Given the description of an element on the screen output the (x, y) to click on. 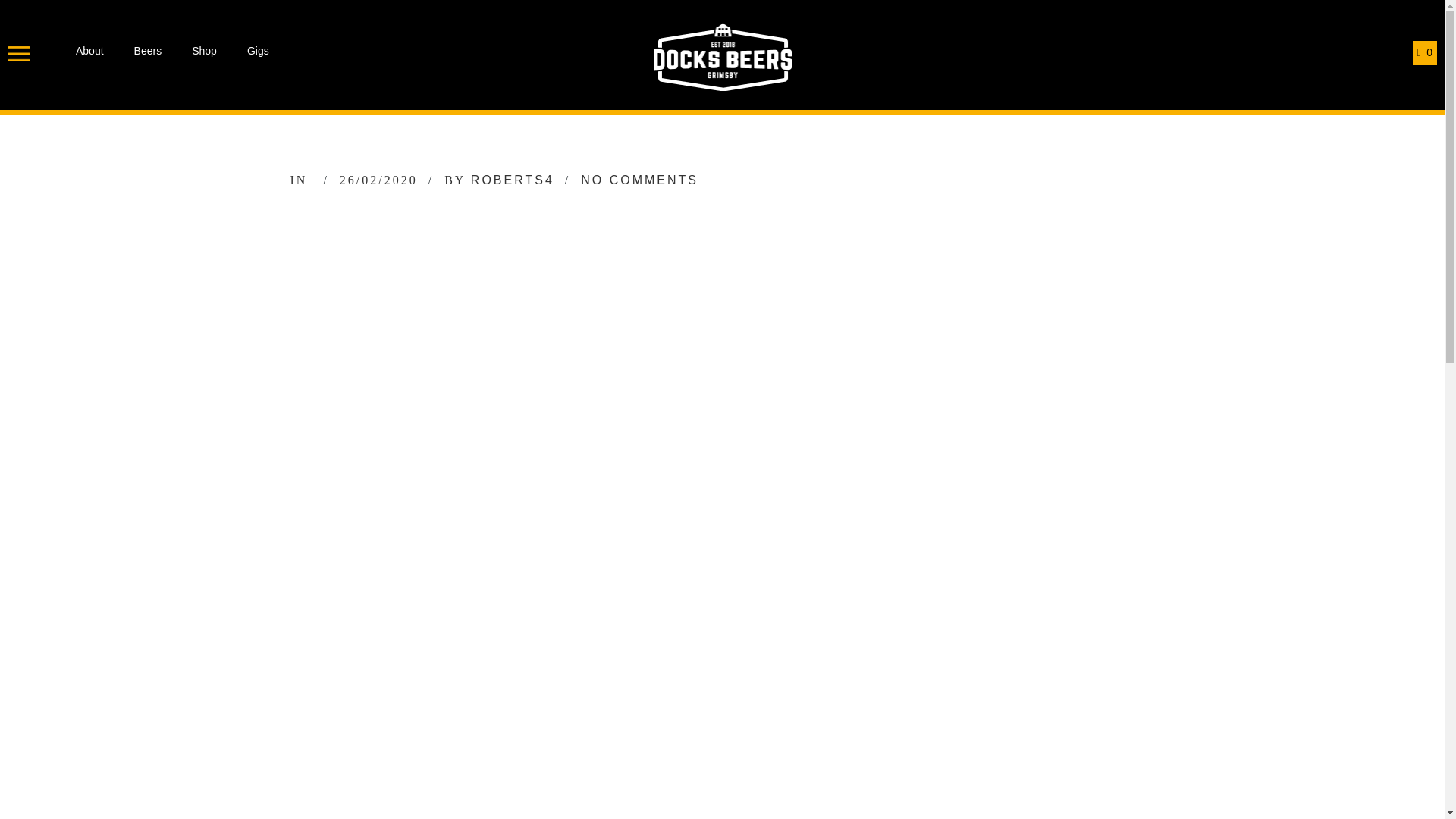
ROBERTS4 (512, 179)
Beers (147, 50)
Shop (204, 50)
NO COMMENTS (639, 179)
About (89, 50)
Gigs (258, 50)
0 (1424, 52)
Posts by RobertS4 (512, 179)
